Given the description of an element on the screen output the (x, y) to click on. 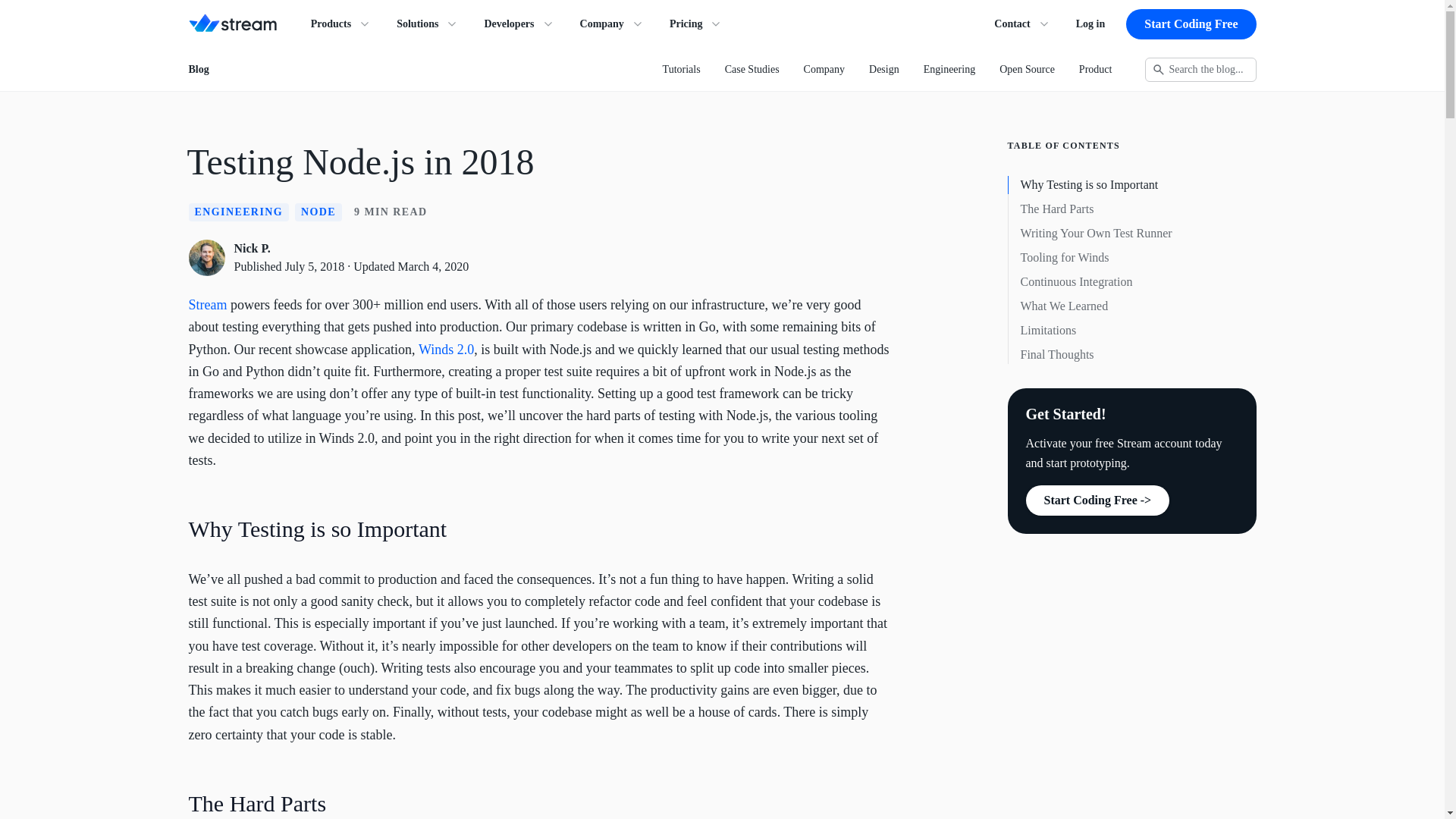
Log in (1091, 24)
